Given the description of an element on the screen output the (x, y) to click on. 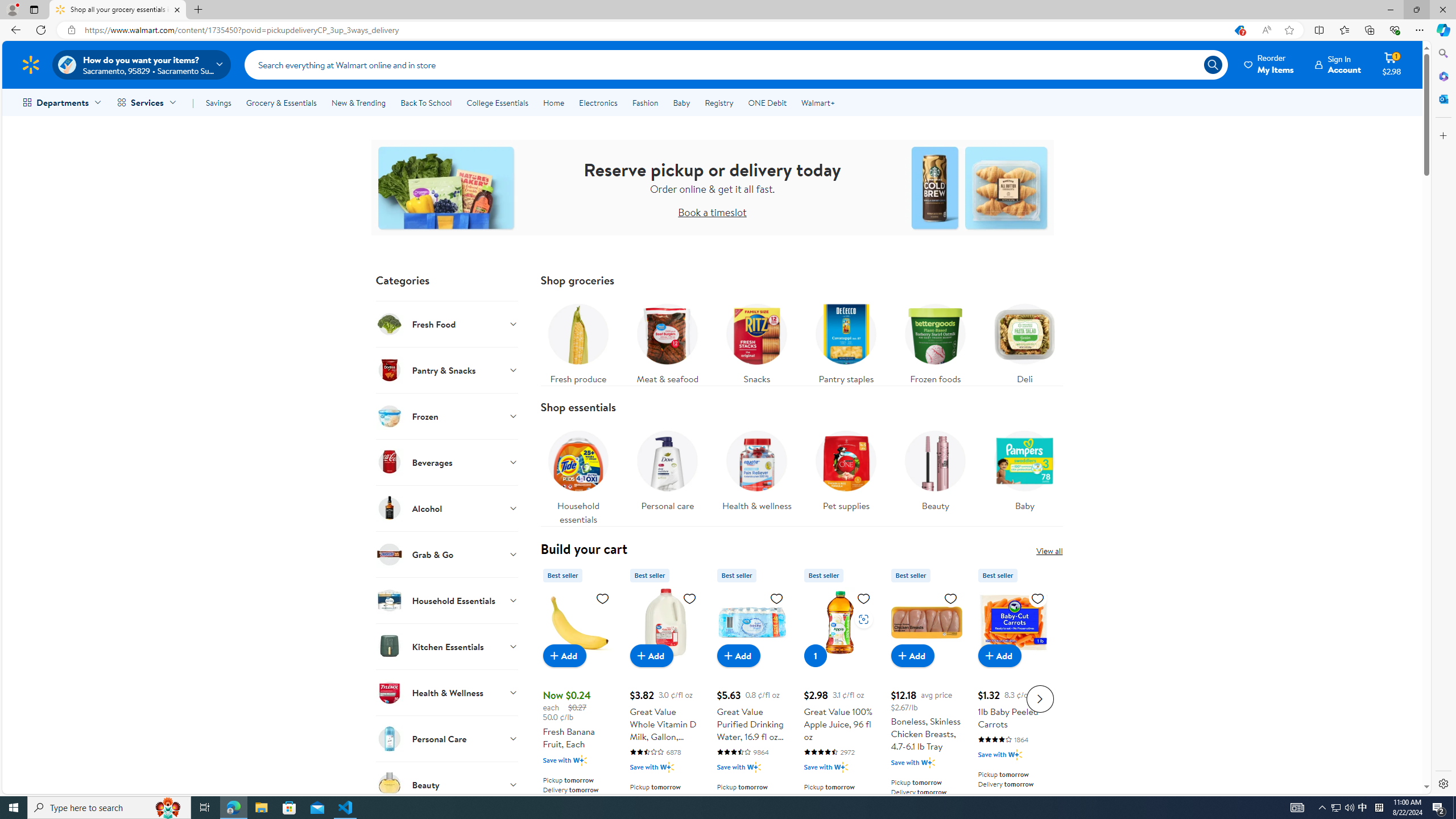
Sign In Account (1338, 64)
Pantry staples (845, 340)
Pet supplies (845, 473)
Frozen (446, 415)
Walmart+ (817, 102)
This site has coupons! Shopping in Microsoft Edge, 7 (1239, 29)
ReorderMy Items (1269, 64)
